Given the description of an element on the screen output the (x, y) to click on. 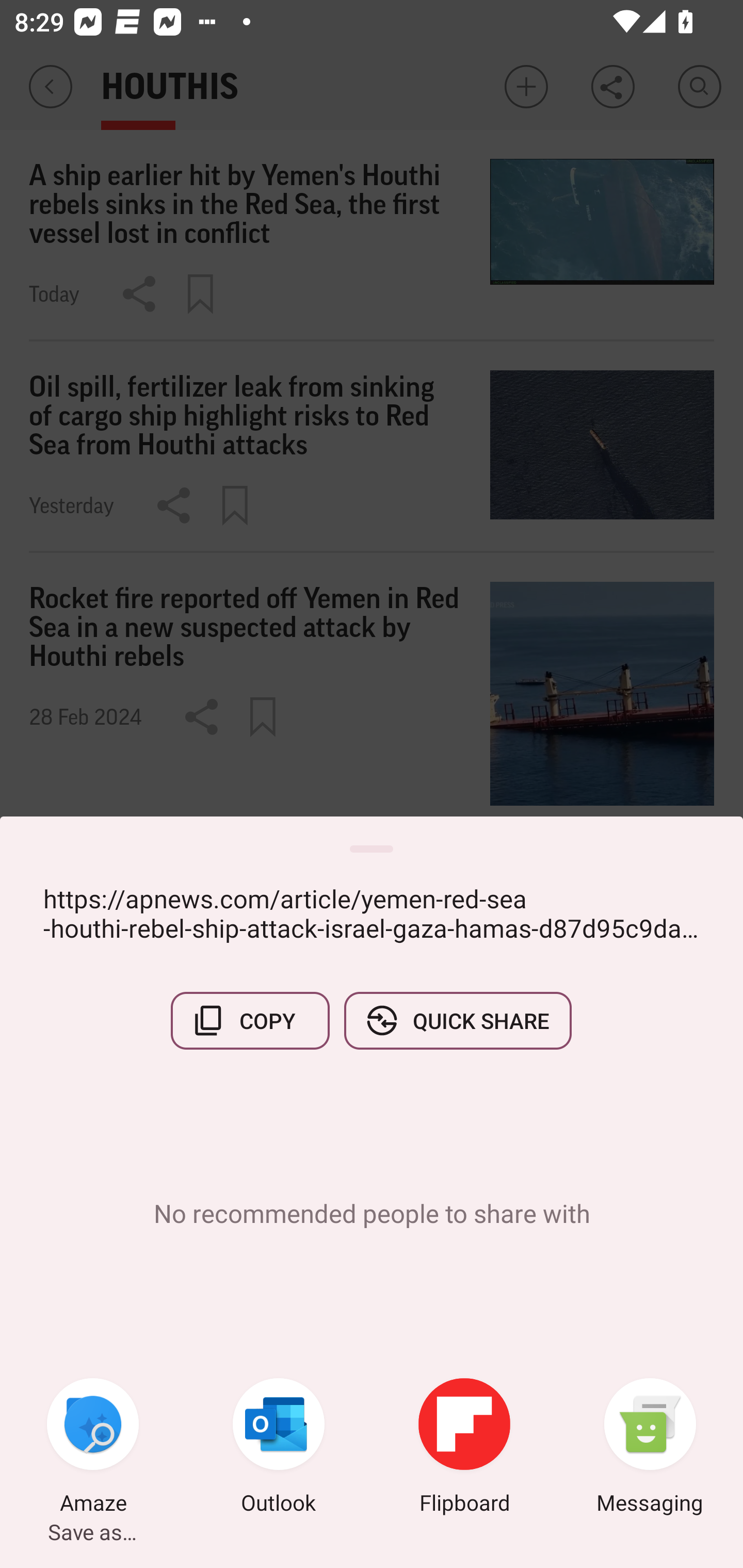
COPY (249, 1020)
QUICK SHARE (457, 1020)
Amaze Save as… (92, 1448)
Outlook (278, 1448)
Flipboard (464, 1448)
Messaging (650, 1448)
